Given the description of an element on the screen output the (x, y) to click on. 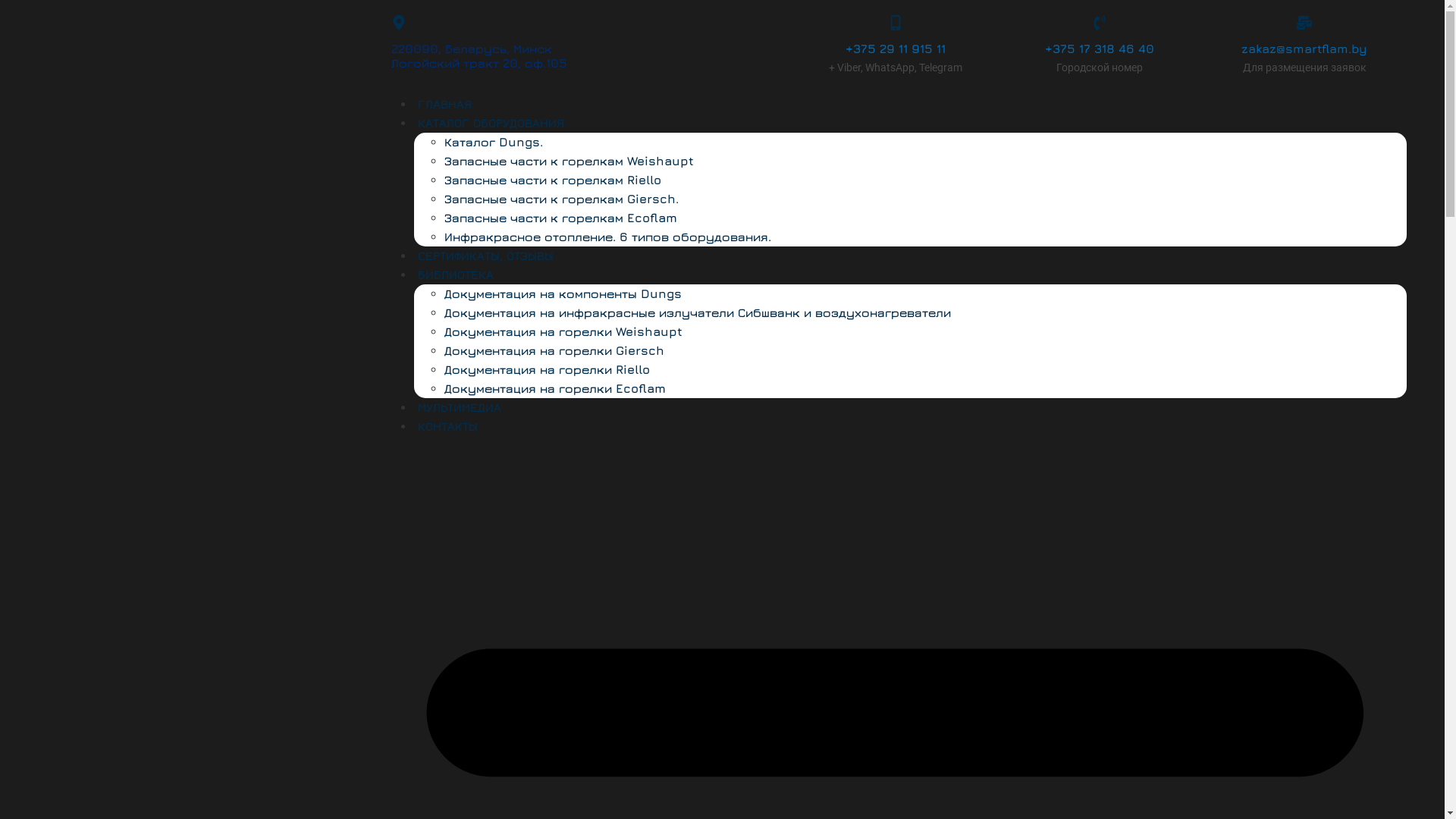
zakaz@smartflam.by Element type: text (1304, 48)
+375 29 11 915 11 Element type: text (895, 48)
+375 17 318 46 40 Element type: text (1099, 48)
